Given the description of an element on the screen output the (x, y) to click on. 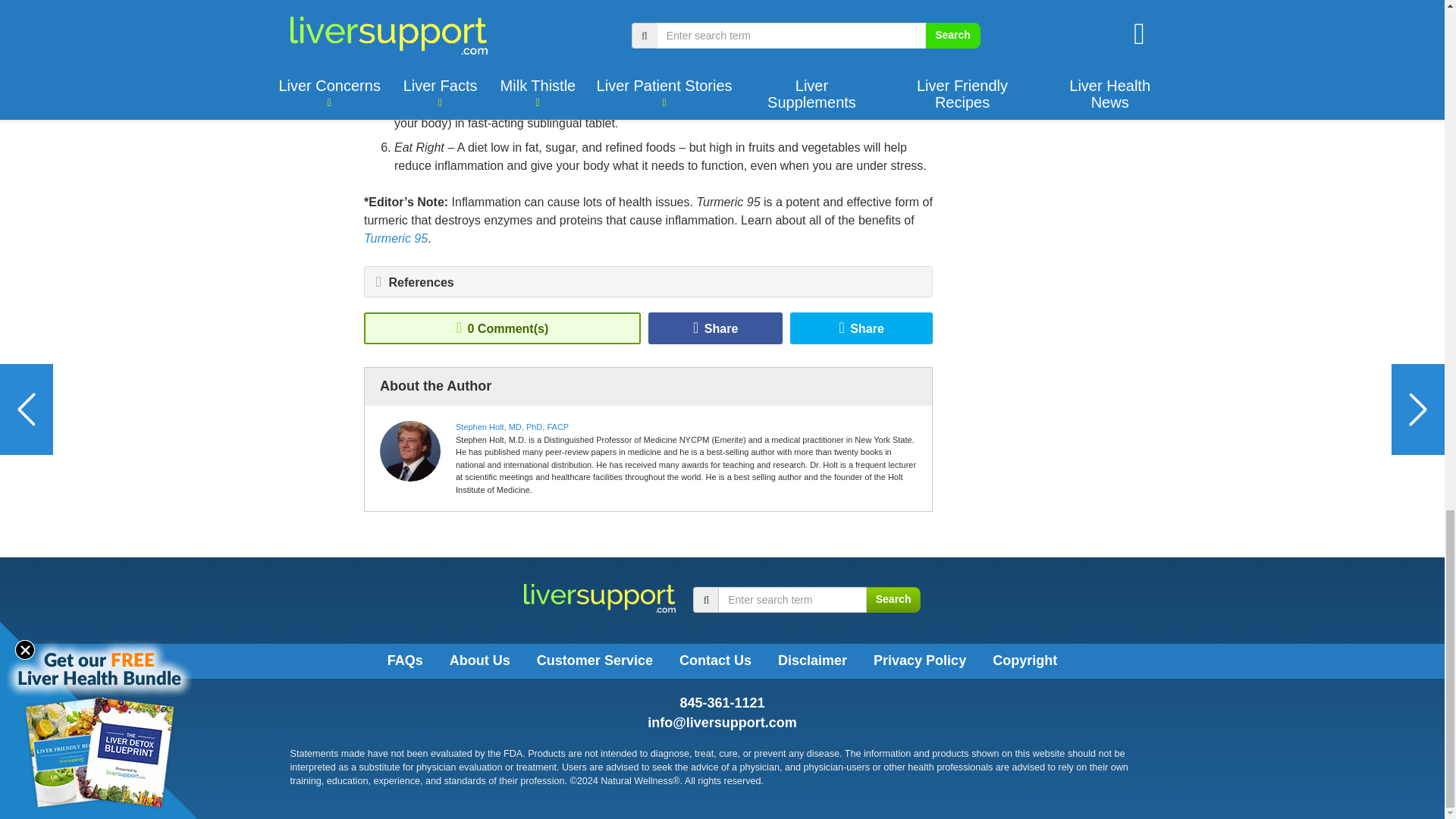
Share this on Twitter (861, 327)
Share this on Facebook (715, 327)
LiverSupport (599, 597)
